Given the description of an element on the screen output the (x, y) to click on. 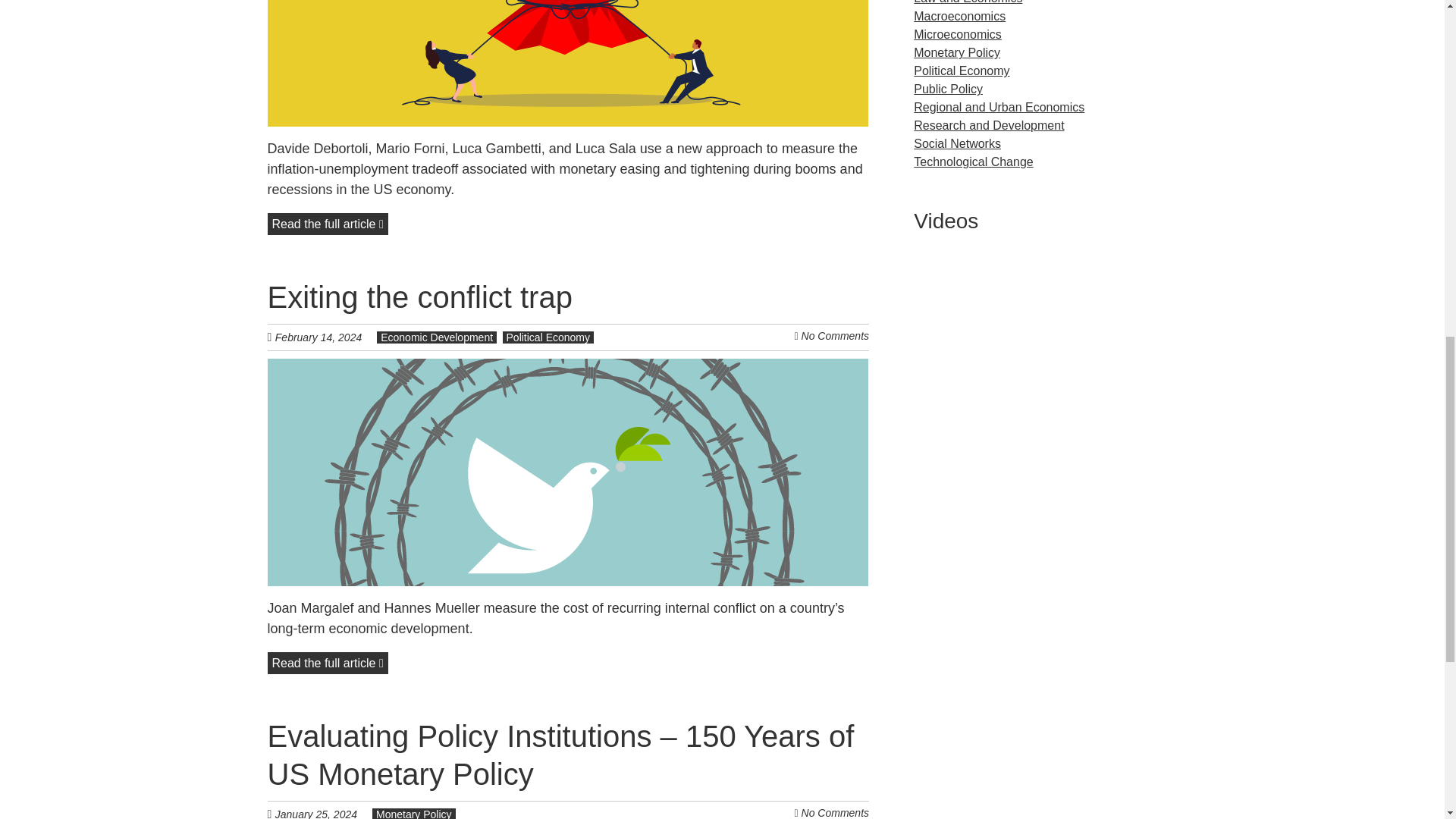
Economic Development (436, 337)
January 25, 2024 (323, 813)
Political Economy (548, 337)
No Comments (835, 812)
Read the full article (326, 662)
Exiting the conflict trap (419, 296)
Monetary Policy (413, 813)
February 14, 2024 (326, 336)
Read the full article (326, 223)
No Comments (835, 336)
